Given the description of an element on the screen output the (x, y) to click on. 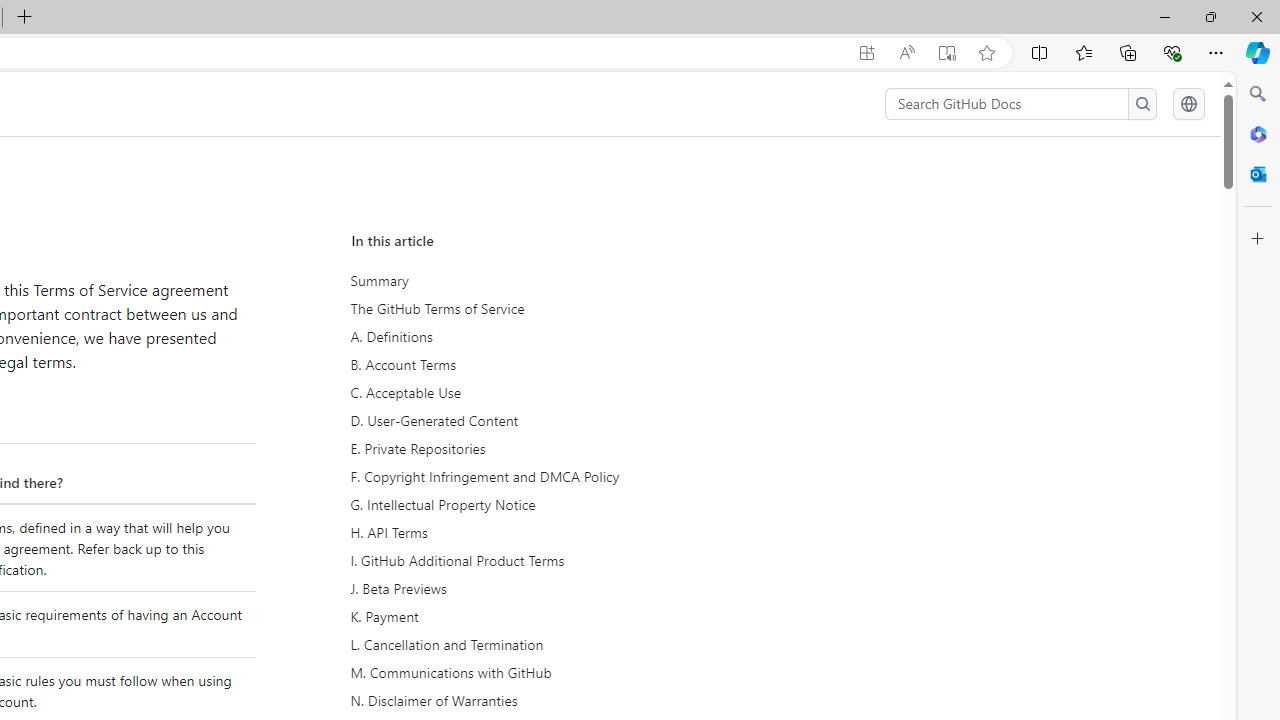
The GitHub Terms of Service (538, 309)
J. Beta Previews (535, 589)
M. Communications with GitHub (535, 672)
The GitHub Terms of Service (535, 309)
Summary (535, 281)
I. GitHub Additional Product Terms (535, 561)
B. Account Terms (535, 364)
C. Acceptable Use (535, 392)
K. Payment (538, 616)
Select language: current language is English (1188, 103)
